Given the description of an element on the screen output the (x, y) to click on. 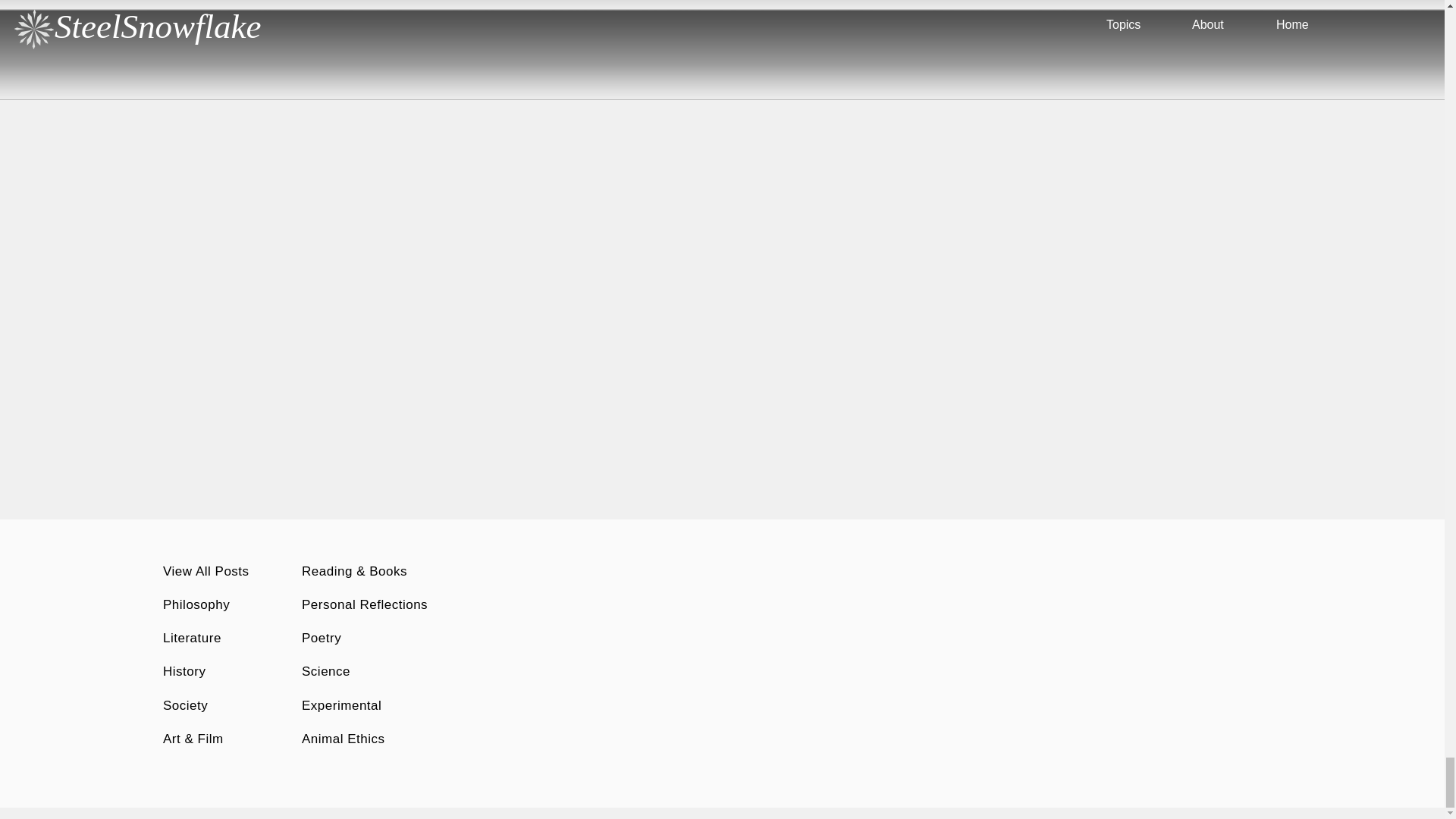
Literature (192, 637)
History (184, 671)
Society (185, 705)
View All Posts (205, 571)
Philosophy (196, 604)
Personal Reflections (364, 604)
